Given the description of an element on the screen output the (x, y) to click on. 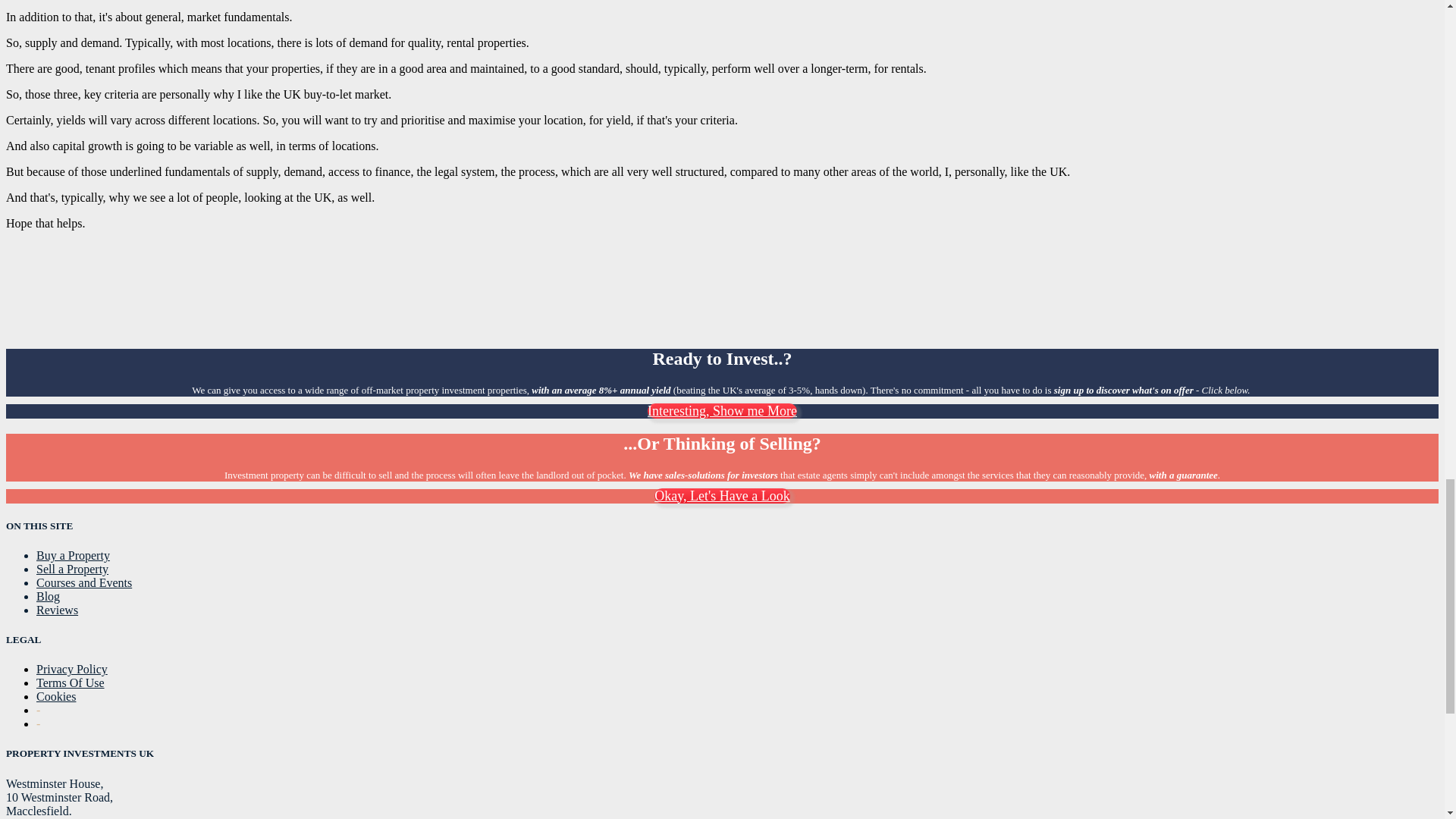
Rob Jones, Signature (96, 326)
